Given the description of an element on the screen output the (x, y) to click on. 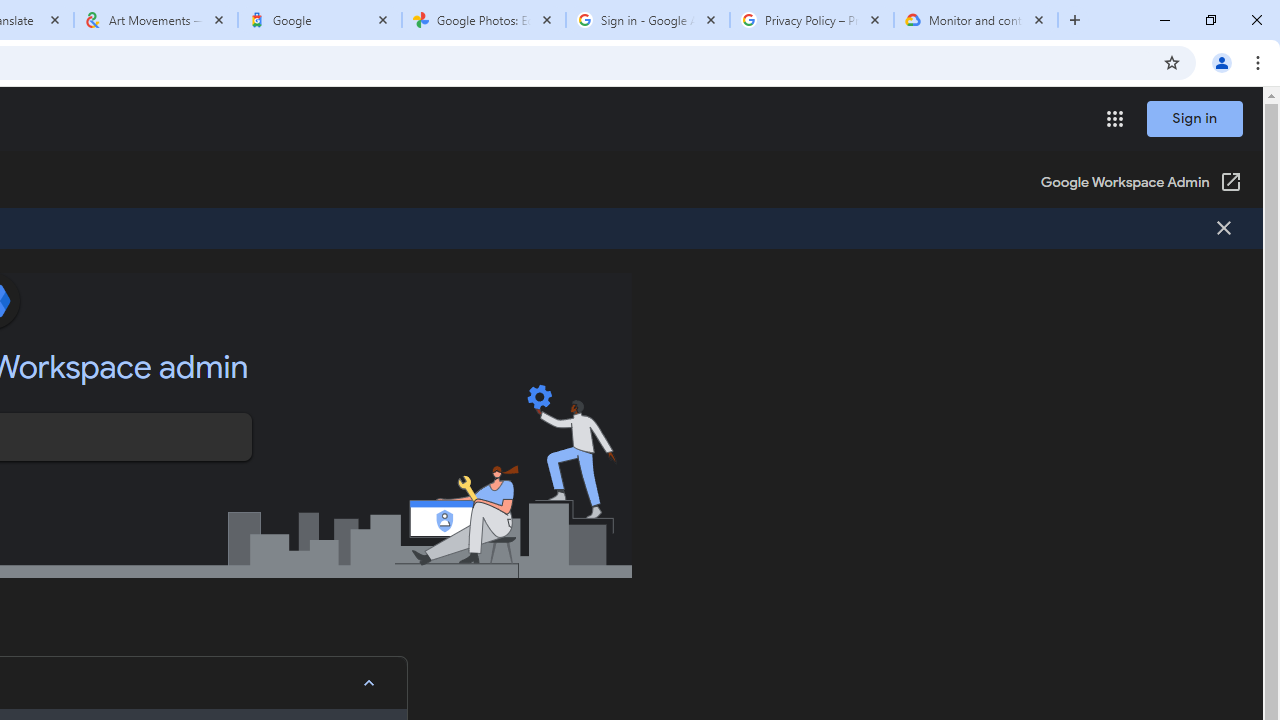
Google (319, 20)
